Given the description of an element on the screen output the (x, y) to click on. 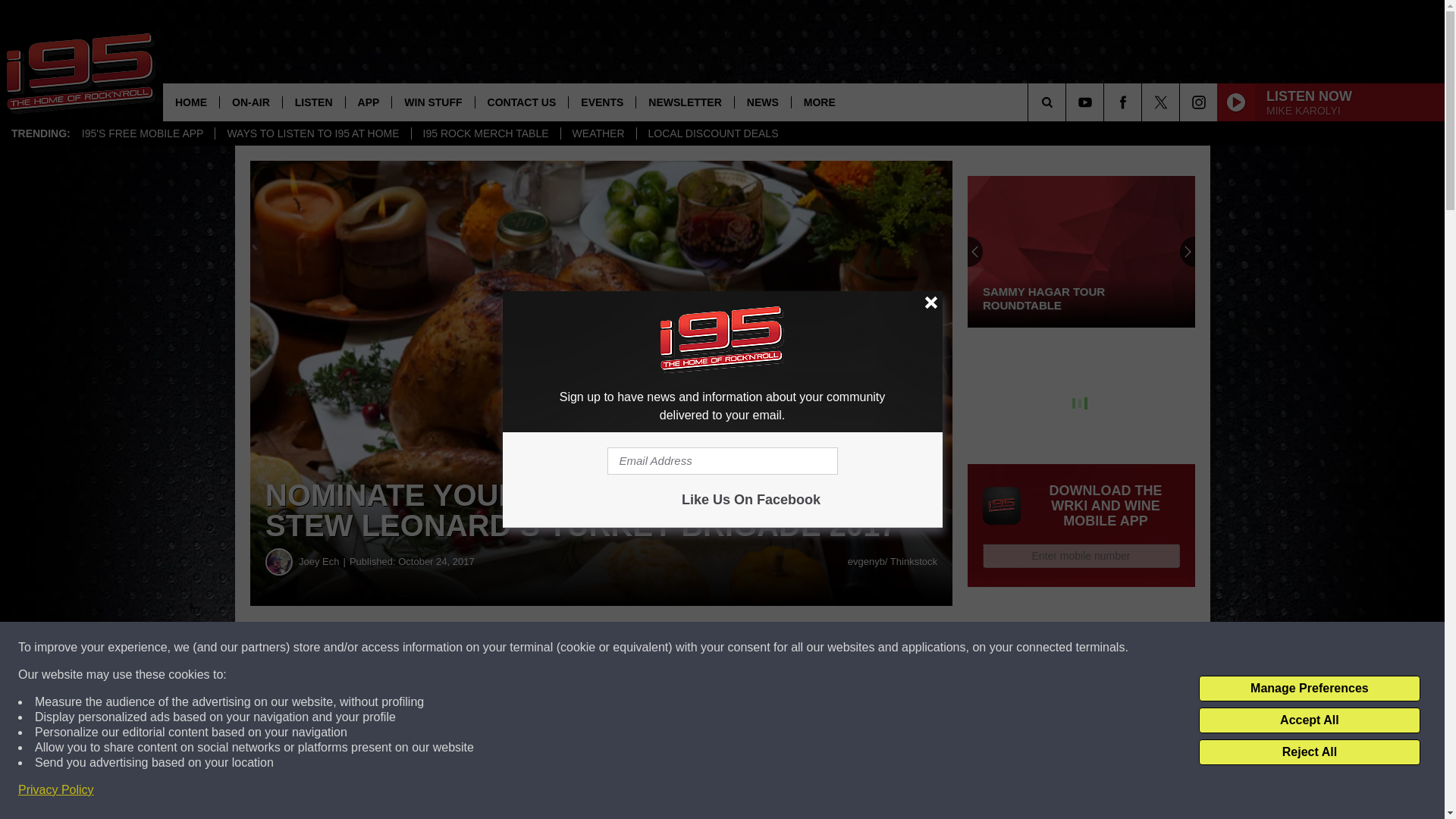
Share on Twitter (741, 647)
LISTEN (313, 102)
APP (368, 102)
Manage Preferences (1309, 688)
WIN STUFF (432, 102)
CONTACT US (521, 102)
Accept All (1309, 720)
WEATHER (598, 133)
LOCAL DISCOUNT DEALS (713, 133)
I95'S FREE MOBILE APP (142, 133)
ON-AIR (250, 102)
WAYS TO LISTEN TO I95 AT HOME (312, 133)
I95 ROCK MERCH TABLE (485, 133)
SEARCH (1068, 102)
Reject All (1309, 751)
